Given the description of an element on the screen output the (x, y) to click on. 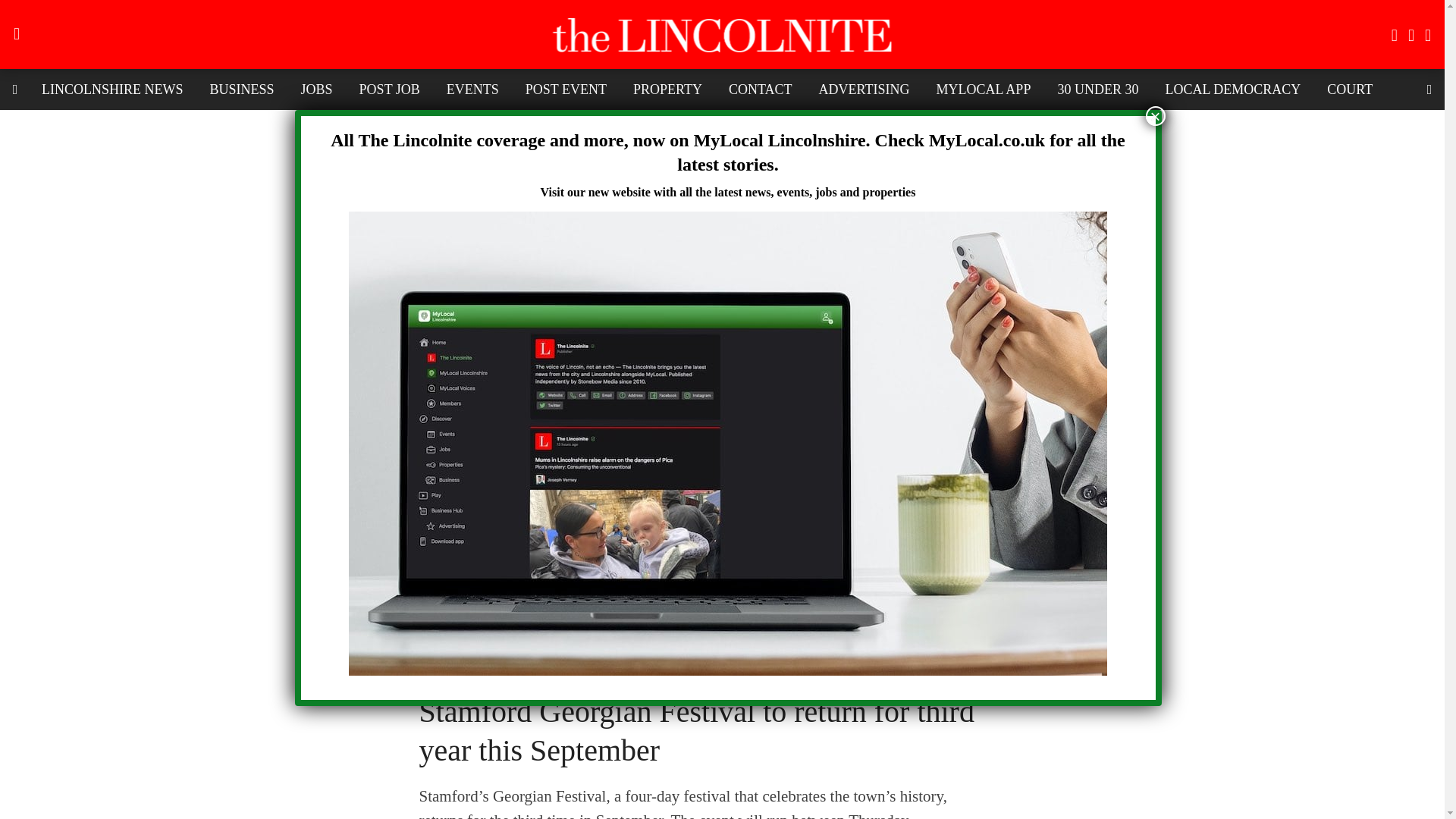
CONTACT (760, 88)
COURT (1350, 88)
LOCAL DEMOCRACY (1232, 88)
LINCOLNSHIRE NEWS (112, 88)
ADVERTISING (864, 88)
PROPERTY (667, 88)
POST JOB (388, 88)
POST EVENT (565, 88)
BUSINESS (241, 88)
MYLOCAL APP (983, 88)
30 UNDER 30 (1097, 88)
JOBS (316, 88)
EVENTS (473, 88)
